Given the description of an element on the screen output the (x, y) to click on. 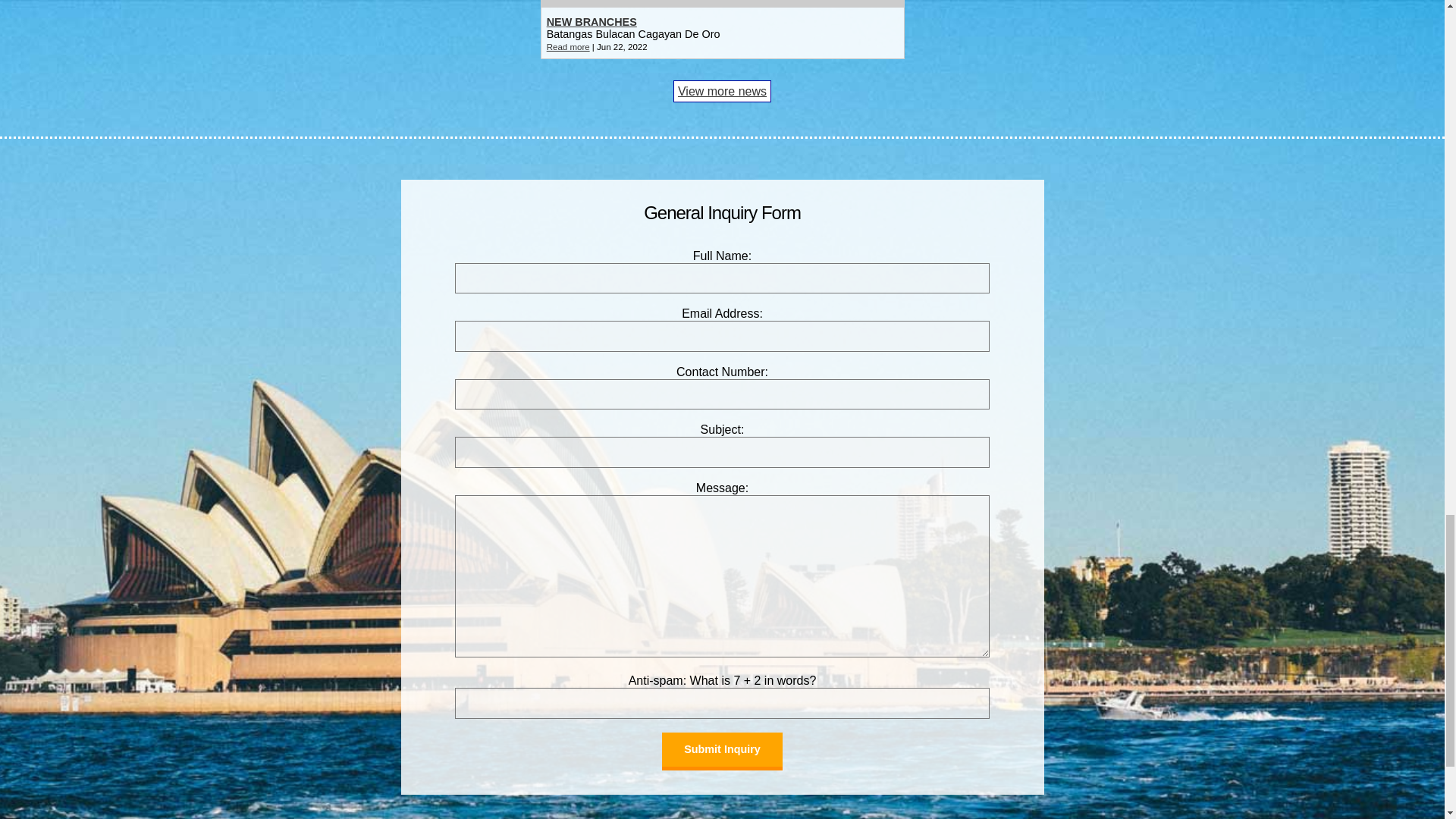
View more news (721, 91)
Submit Inquiry (721, 751)
Read more (568, 46)
NEW BRANCHES (592, 21)
Submit Inquiry (721, 751)
